Given the description of an element on the screen output the (x, y) to click on. 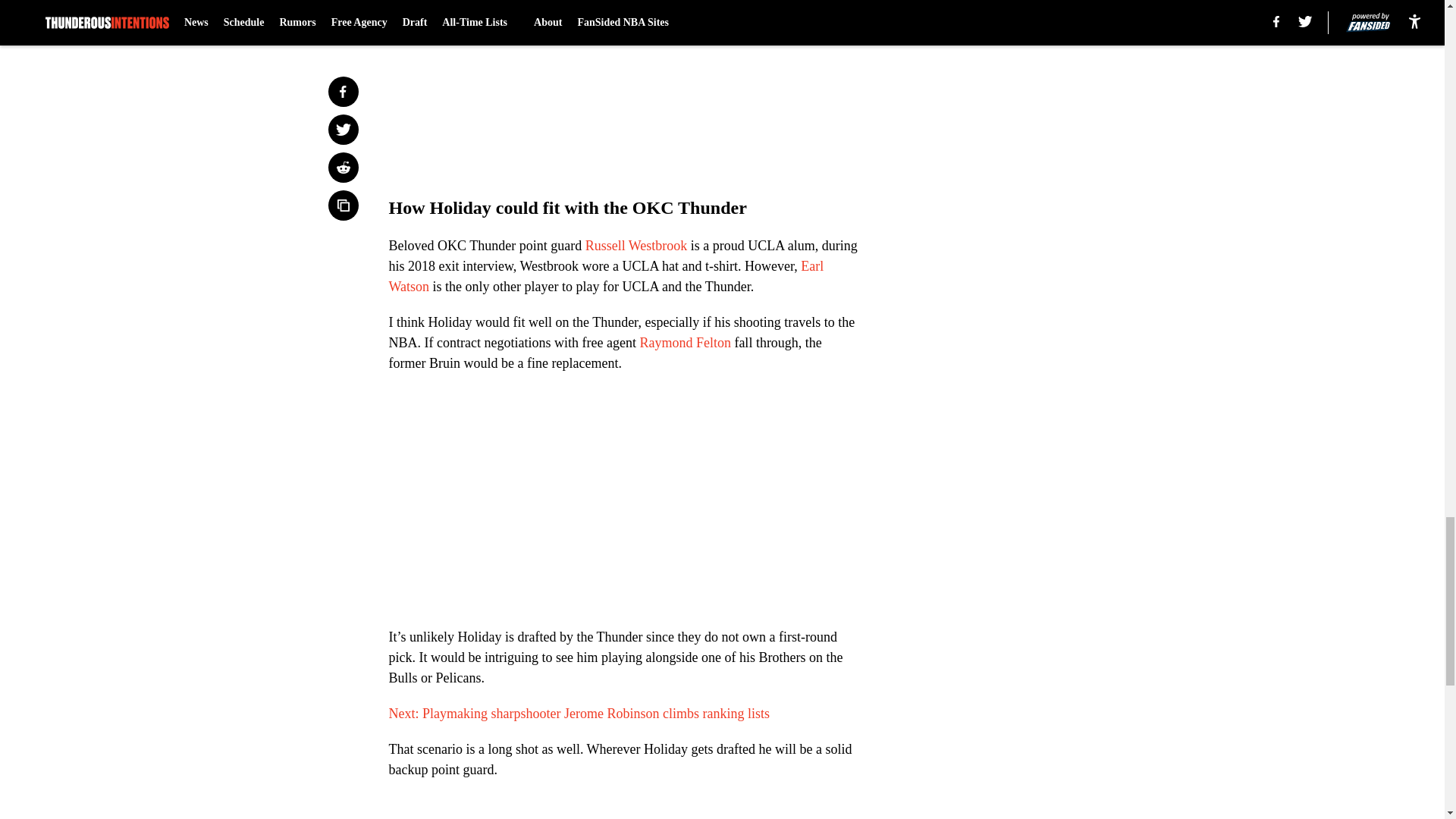
Russell Westbrook (636, 245)
